Given the description of an element on the screen output the (x, y) to click on. 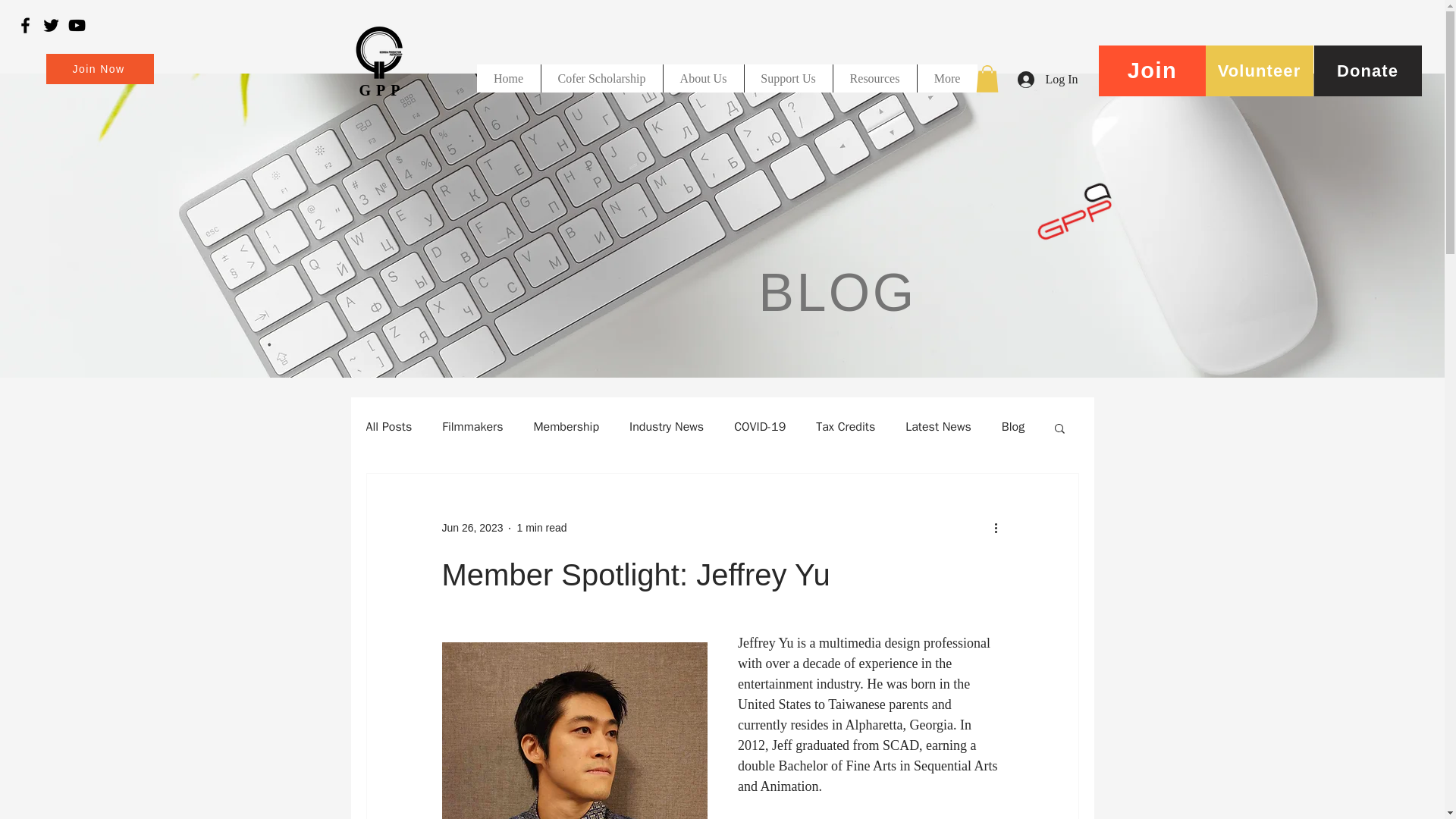
Jun 26, 2023 (471, 527)
Cofer Scholarship (601, 78)
All Posts (388, 426)
Industry News (665, 426)
About Us (703, 78)
Tax Credits (845, 426)
Donate (1367, 70)
Support Us (786, 78)
Latest News (938, 426)
Join (1151, 70)
